Given the description of an element on the screen output the (x, y) to click on. 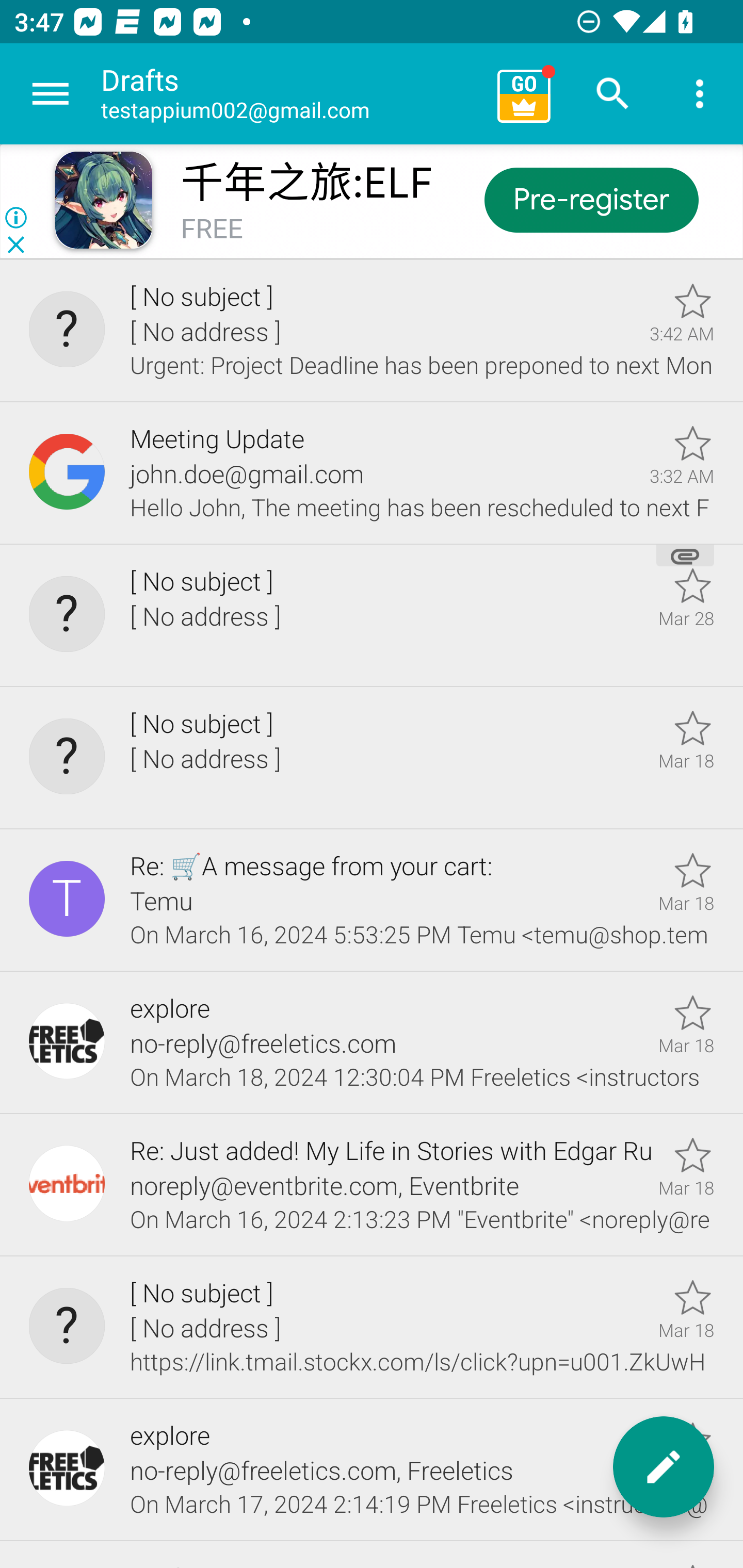
Navigate up (50, 93)
Drafts testappium002@gmail.com (291, 93)
Search (612, 93)
More options (699, 93)
千年之旅:ELF (306, 183)
Pre-register (590, 199)
FREE (211, 230)
[ No subject ], [ No address ], Mar 18 (371, 757)
New message (663, 1466)
